Given the description of an element on the screen output the (x, y) to click on. 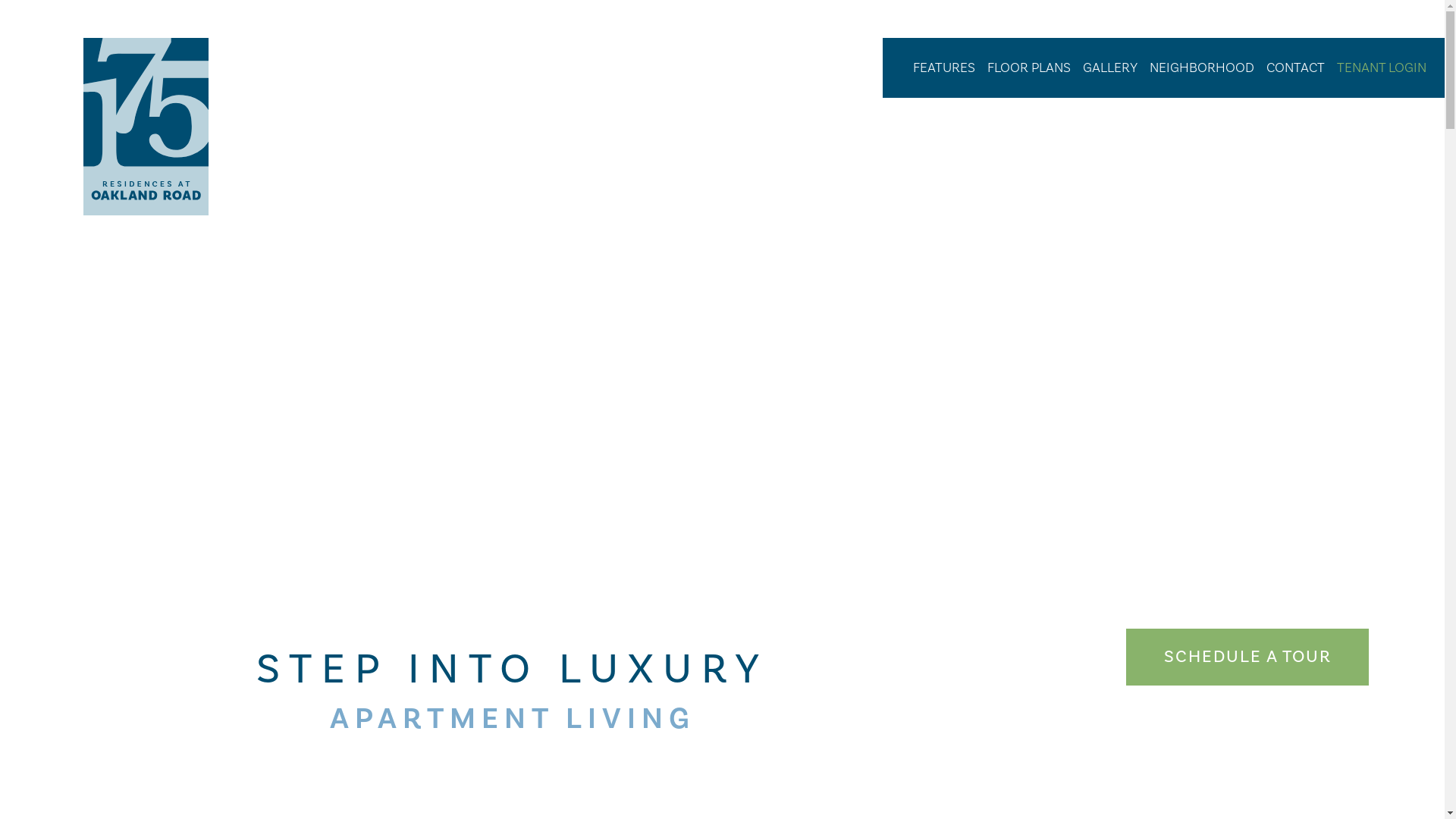
GALLERY
(CURRENT) Element type: text (1109, 67)
TENANT LOGIN
(CURRENT) Element type: text (1381, 67)
NEIGHBORHOOD
(CURRENT) Element type: text (1201, 67)
(CURRENT) Element type: text (900, 57)
FEATURES
(CURRENT) Element type: text (943, 67)
FLOOR PLANS
(CURRENT) Element type: text (1028, 67)
CONTACT
(CURRENT) Element type: text (1295, 67)
